Given the description of an element on the screen output the (x, y) to click on. 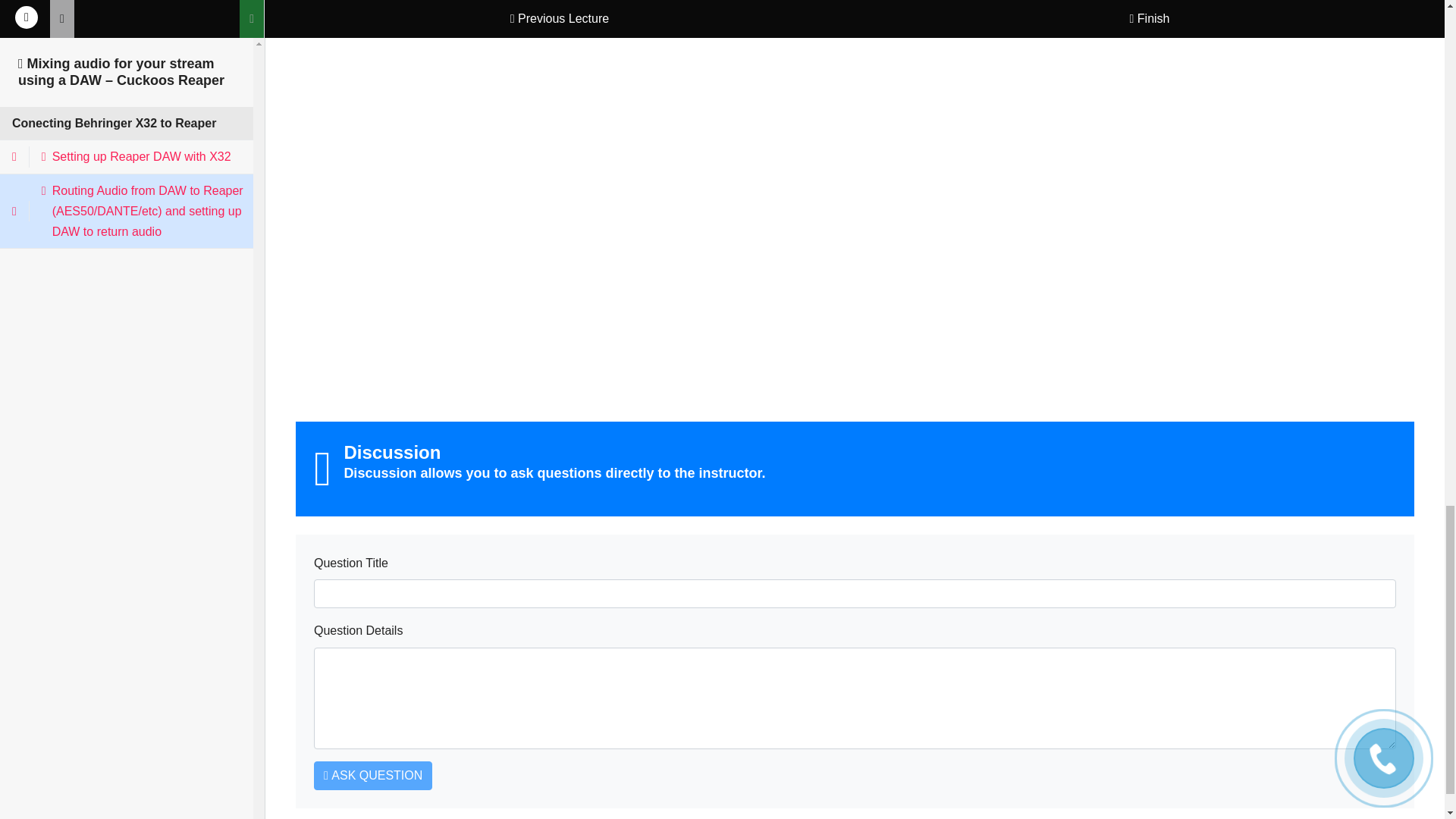
ASK QUESTION (373, 775)
